Given the description of an element on the screen output the (x, y) to click on. 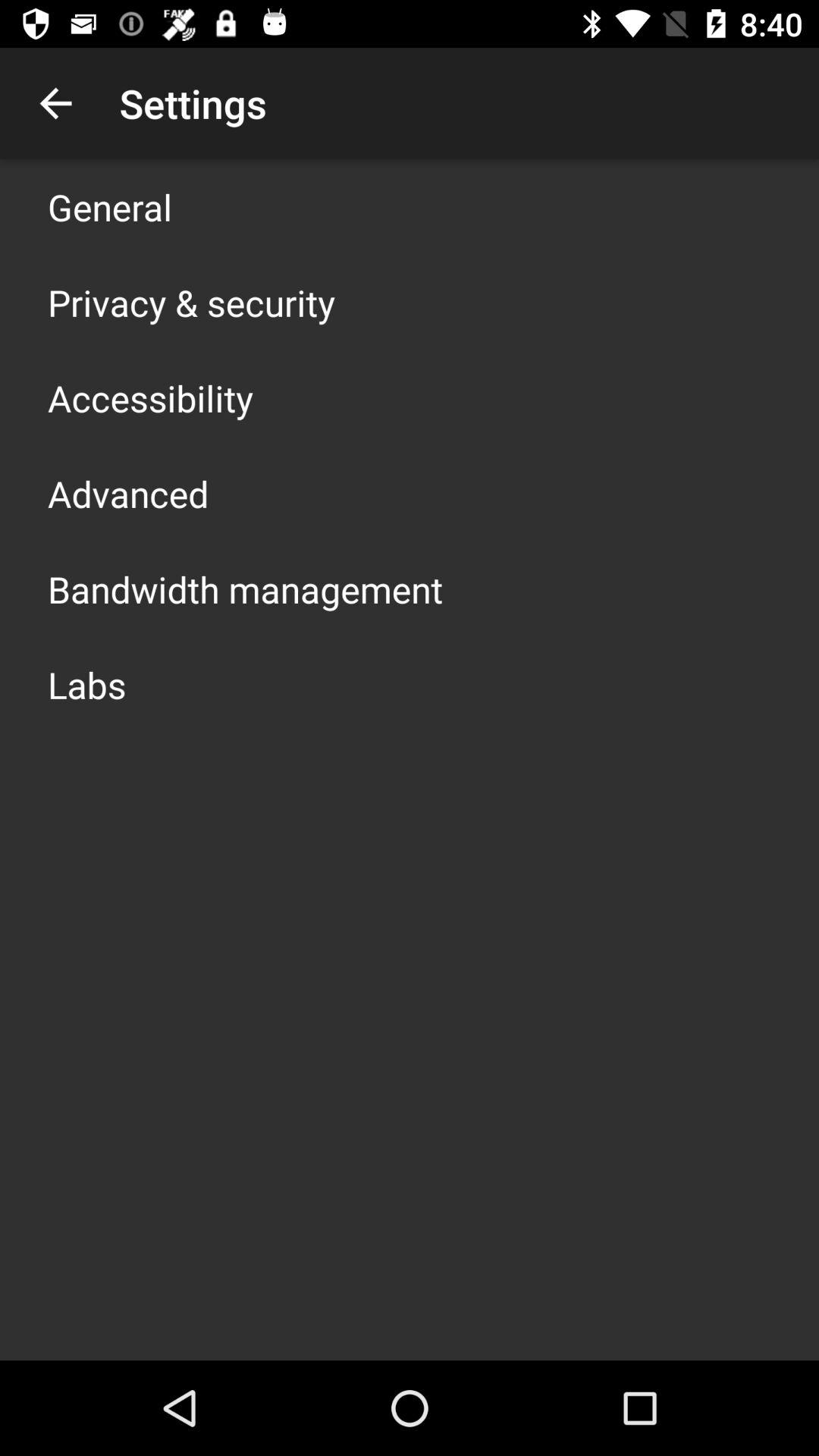
turn on the item above general item (55, 103)
